Given the description of an element on the screen output the (x, y) to click on. 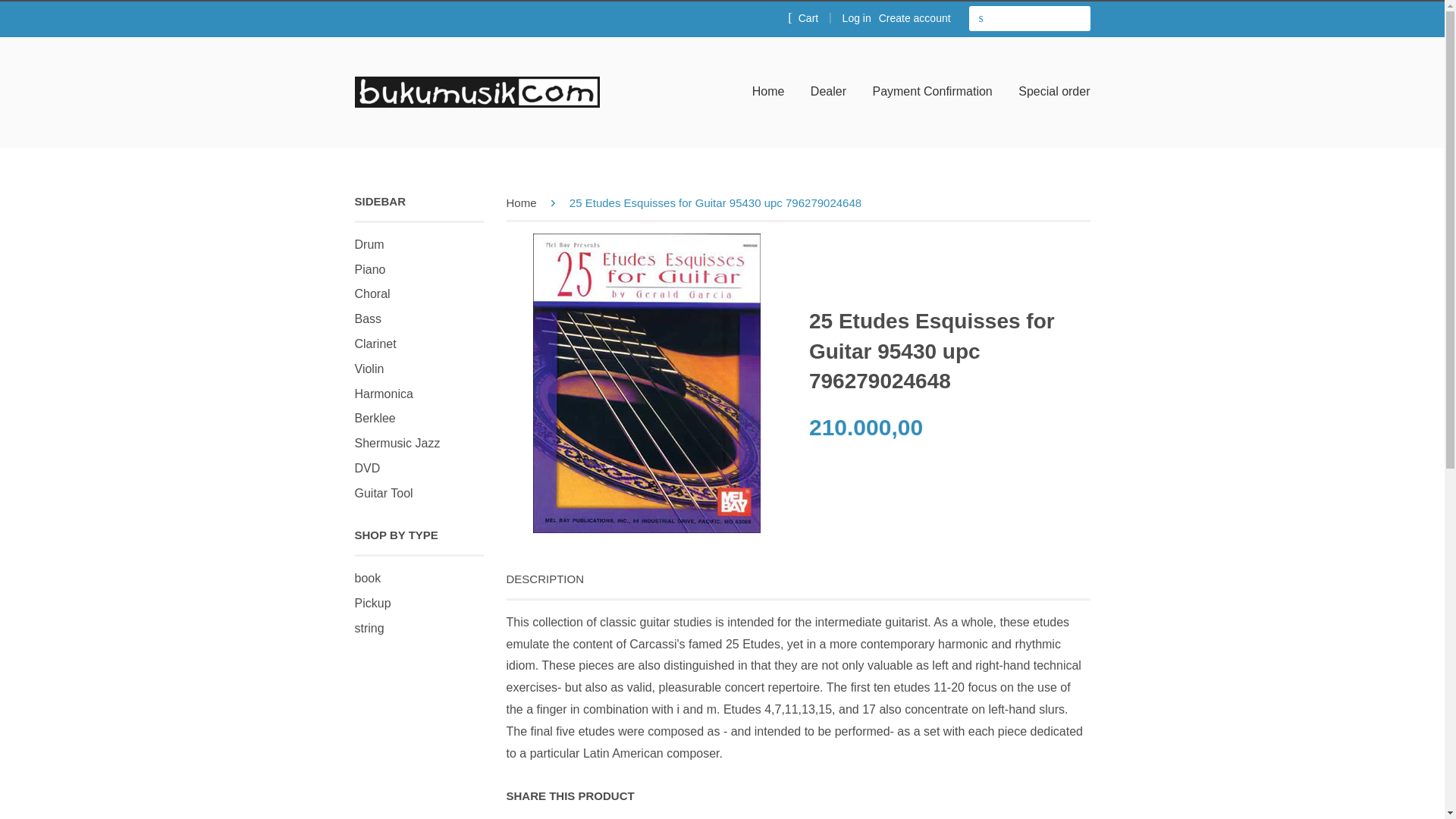
Cart (802, 17)
Choral (372, 293)
Special order (1048, 91)
Search (980, 18)
Dealer (828, 91)
Clarinet (375, 343)
Home (774, 91)
Drum (369, 244)
Payment Confirmation (931, 91)
Back to the frontpage (523, 202)
Piano (370, 269)
Log in (856, 18)
Create account (914, 18)
Bass (368, 318)
